Given the description of an element on the screen output the (x, y) to click on. 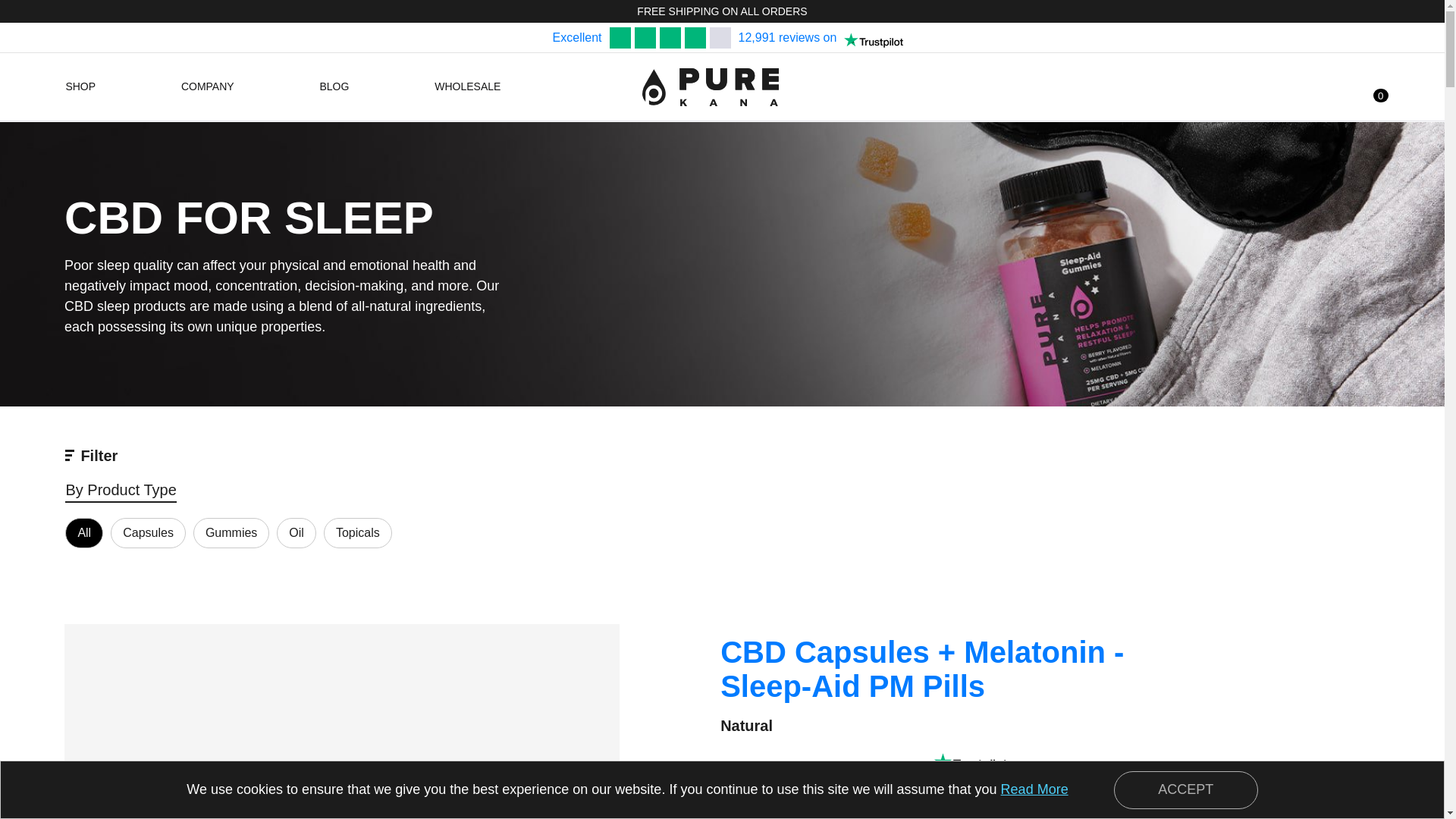
SHOP (84, 86)
Customer reviews powered by Trustpilot (970, 761)
COMPANY (212, 86)
